Given the description of an element on the screen output the (x, y) to click on. 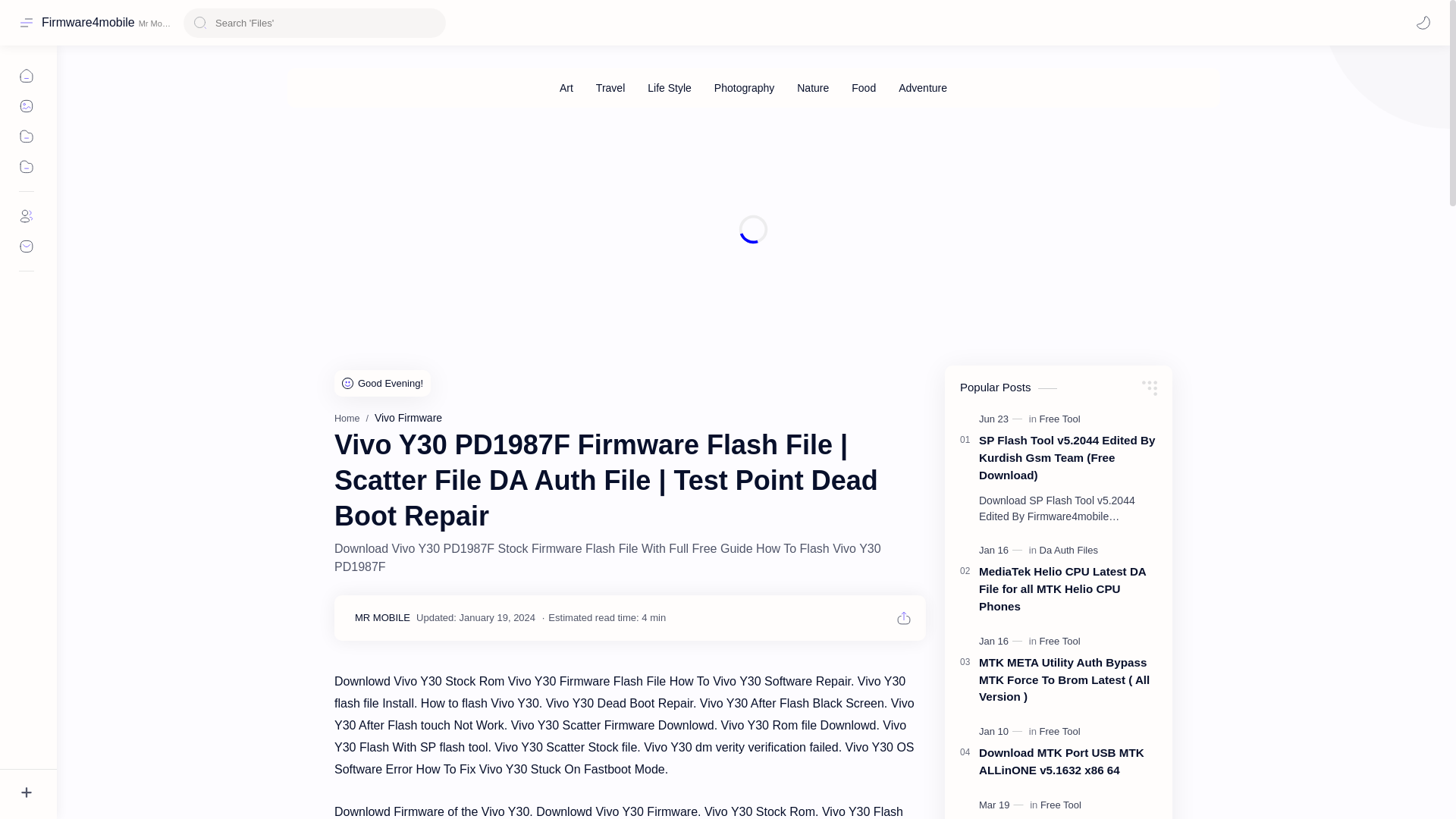
Published: June 23, 2022 (1002, 418)
Last updated: January 19, 2024 (475, 617)
Vivo Firmware (408, 417)
Firmware4mobile (88, 22)
Published: March 19, 2022 (1002, 805)
Published: January 16, 2022 (1002, 641)
Published: January 10, 2022 (1002, 731)
Published: January 16, 2022 (1002, 550)
Home (346, 418)
